Given the description of an element on the screen output the (x, y) to click on. 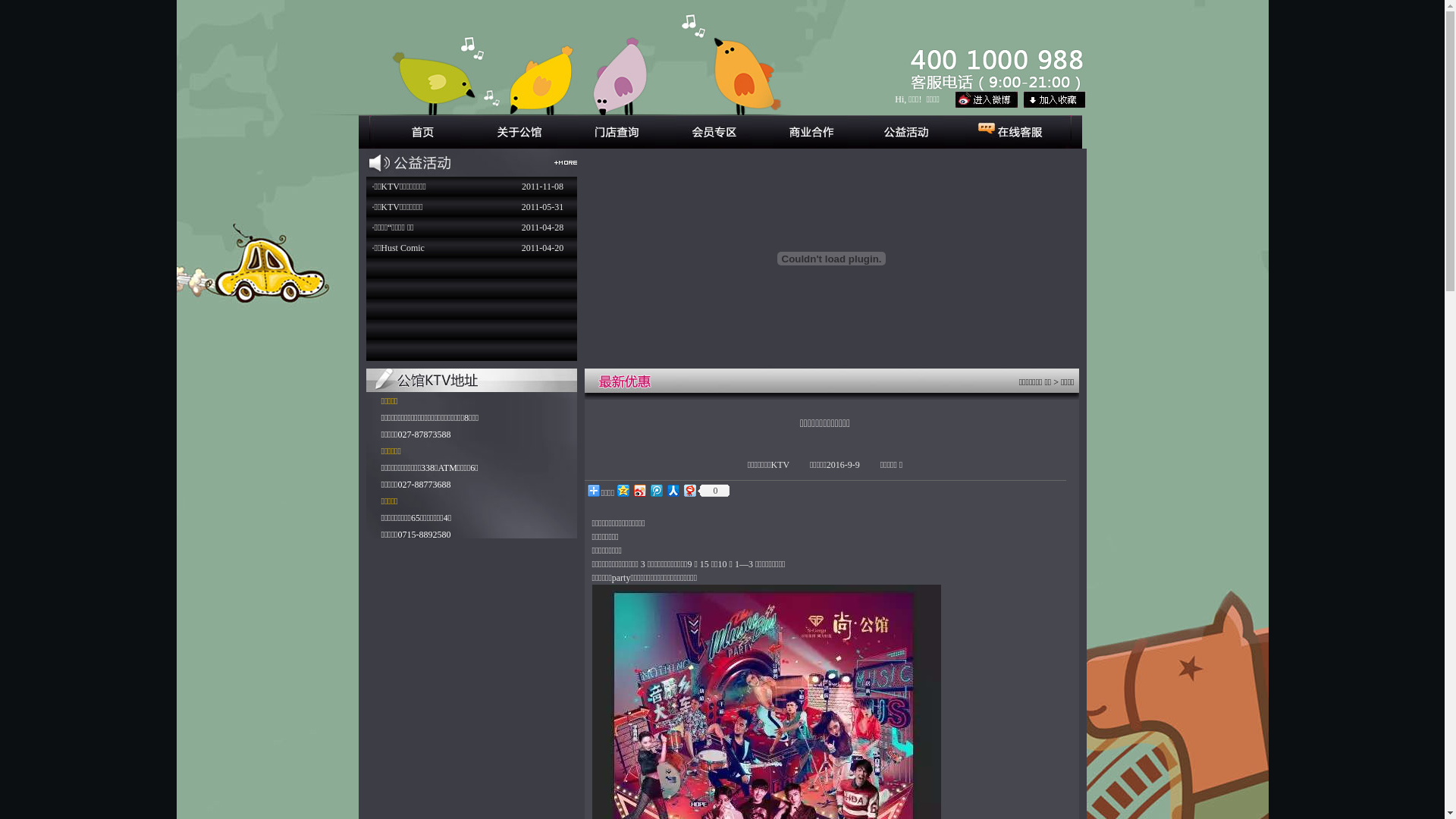
0 Element type: text (713, 490)
